Given the description of an element on the screen output the (x, y) to click on. 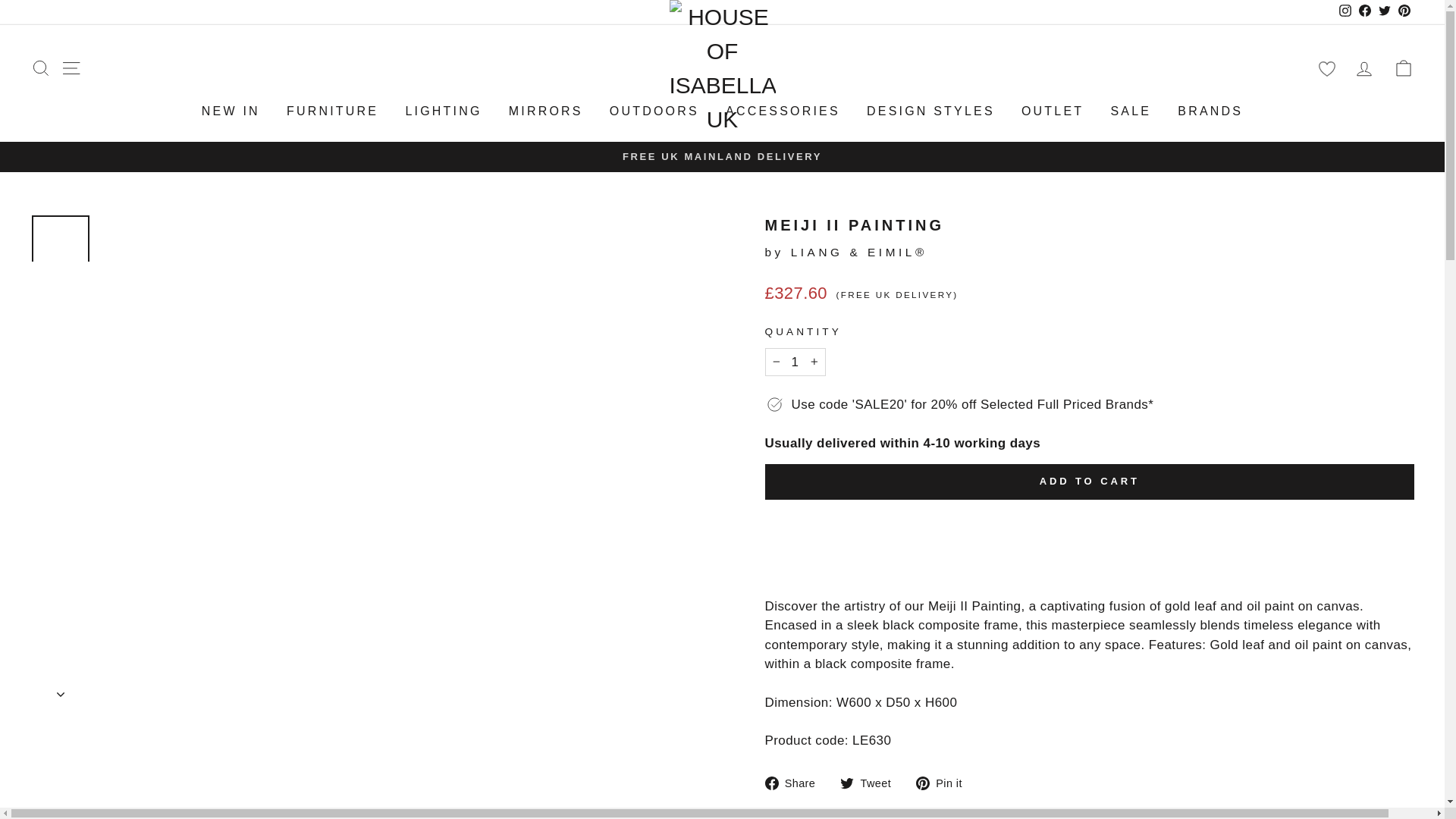
Tweet on Twitter (871, 783)
wishlist (1325, 68)
Share on Facebook (795, 783)
Pin on Pinterest (944, 783)
1 (794, 362)
